Given the description of an element on the screen output the (x, y) to click on. 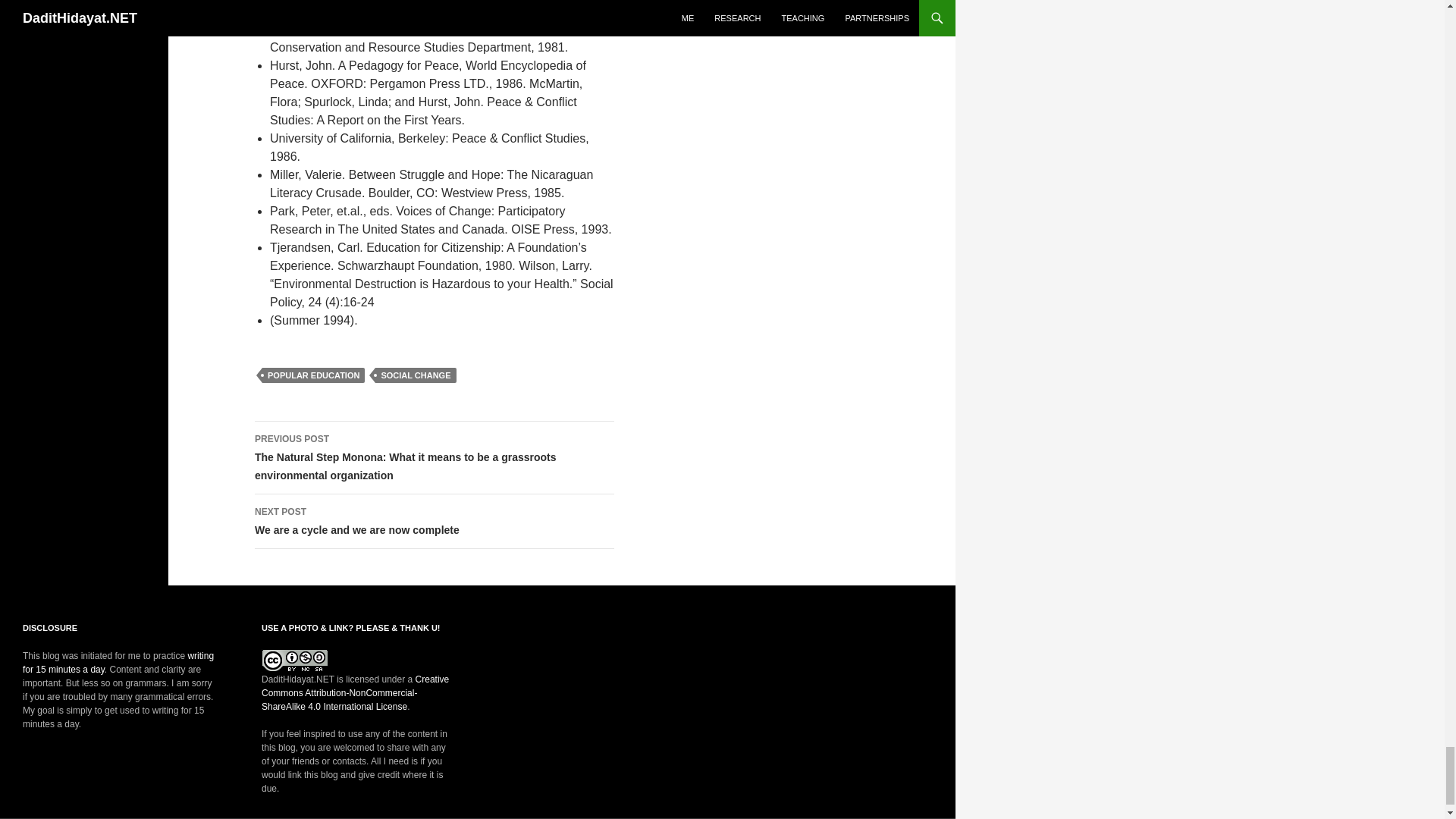
POPULAR EDUCATION (313, 375)
SOCIAL CHANGE (434, 521)
